Given the description of an element on the screen output the (x, y) to click on. 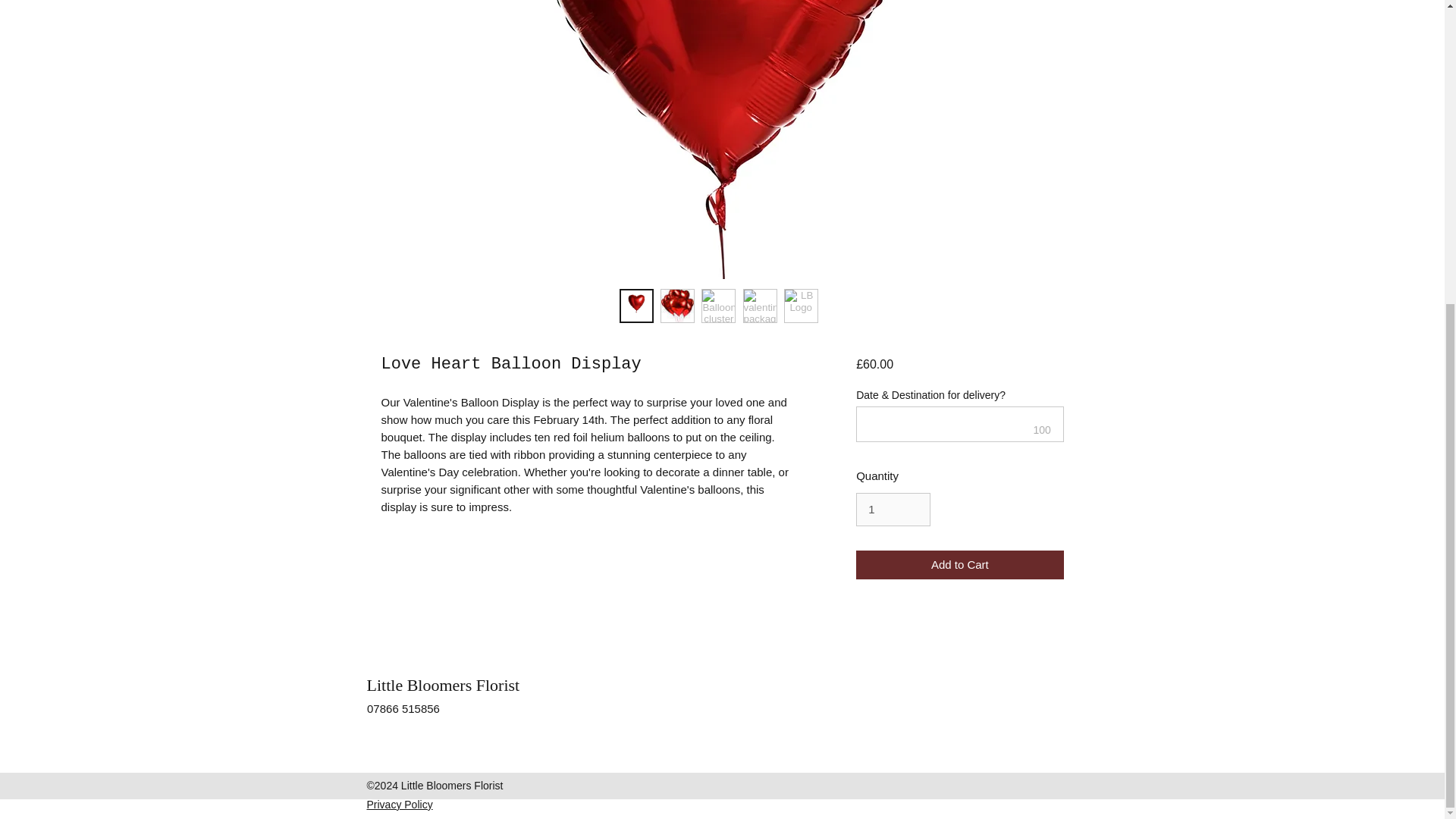
Little Bloomers Florist (442, 684)
Add to Cart (959, 564)
Privacy Policy (399, 804)
1 (893, 509)
